Given the description of an element on the screen output the (x, y) to click on. 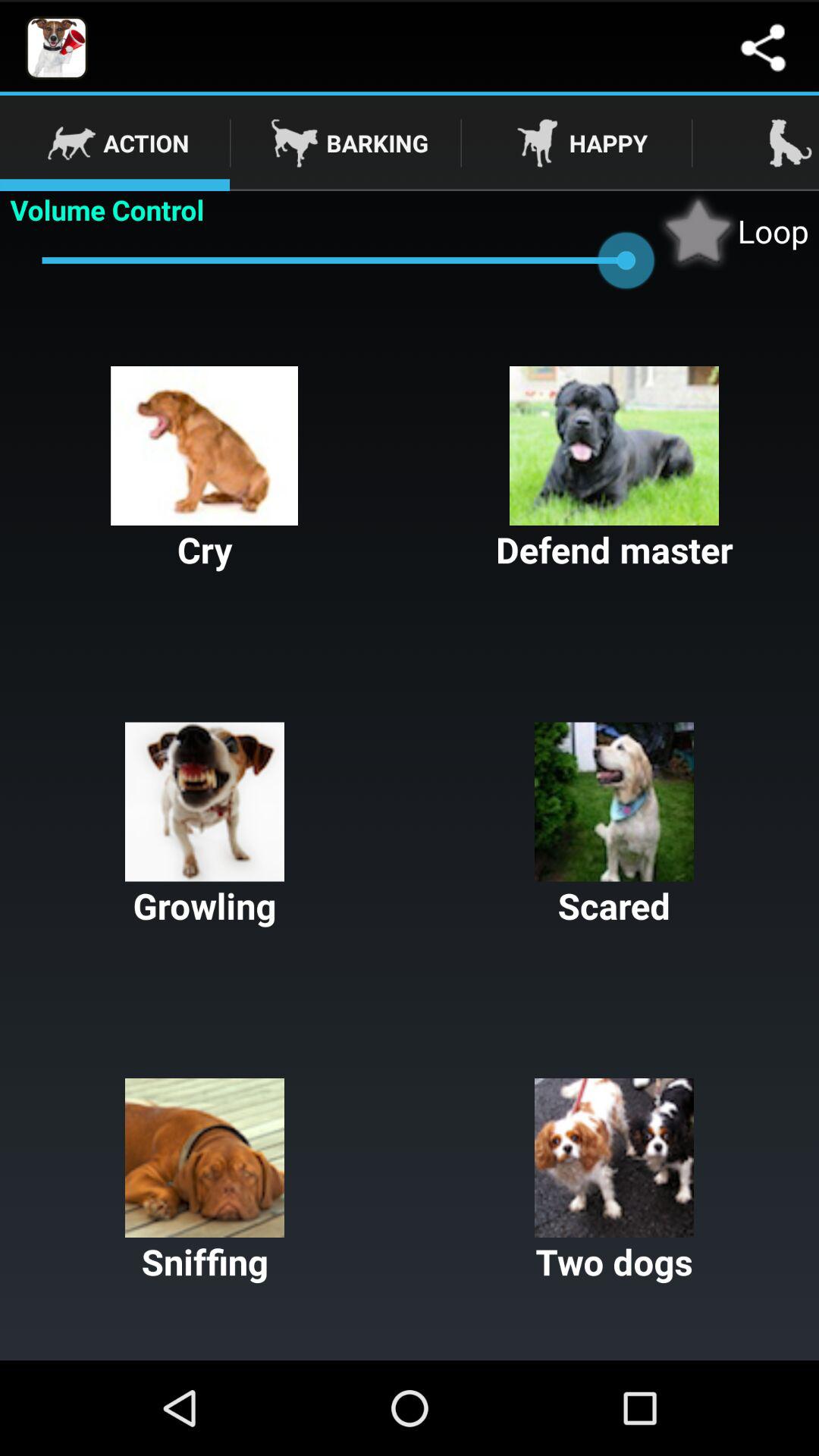
scroll until the loop (733, 230)
